Given the description of an element on the screen output the (x, y) to click on. 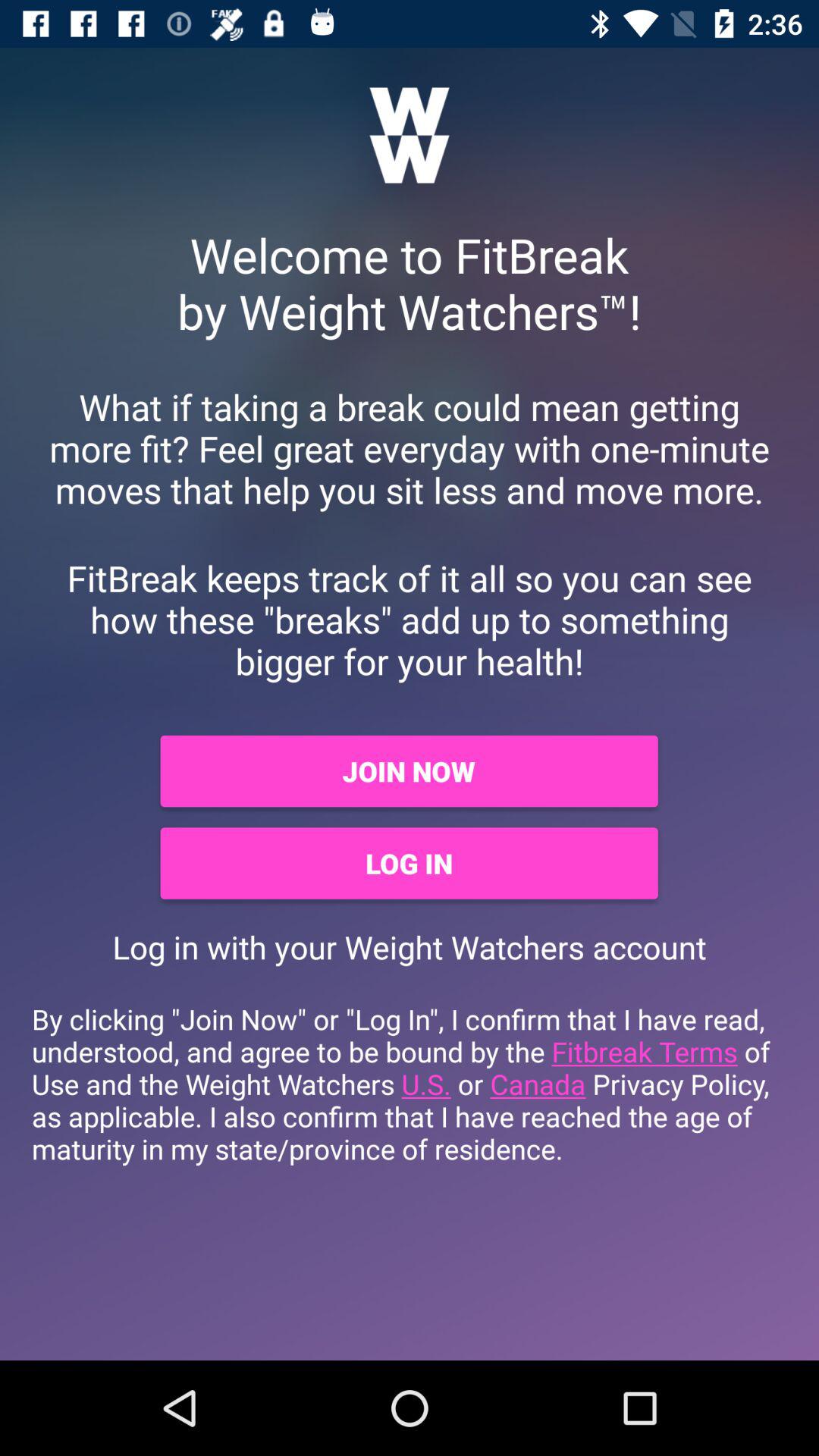
turn off item below log in with icon (409, 1083)
